Given the description of an element on the screen output the (x, y) to click on. 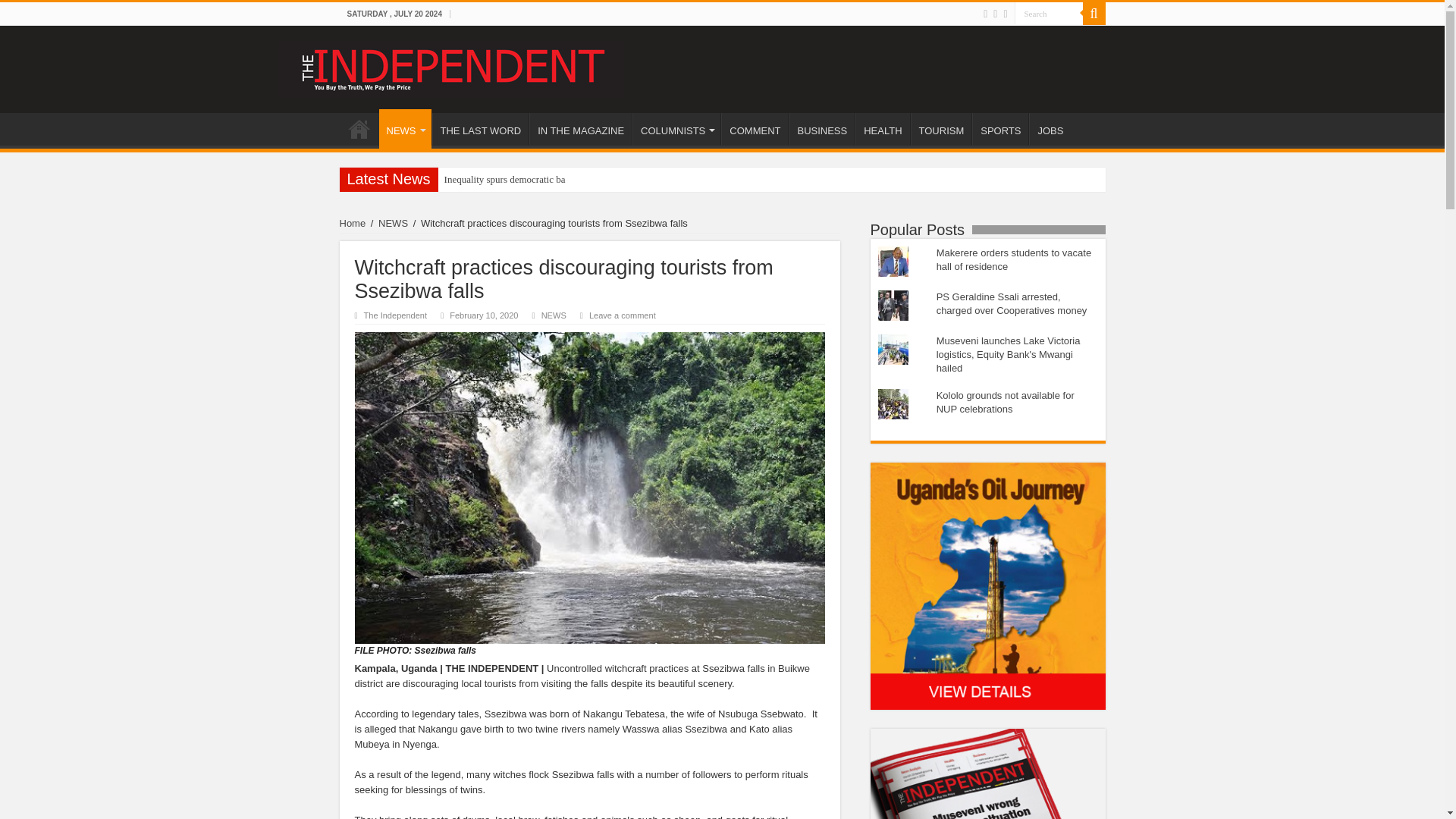
Search (1048, 13)
The Independent Uganda: (451, 66)
Search (1048, 13)
Inequality spurs democratic backsliding (505, 179)
Search (1048, 13)
